Given the description of an element on the screen output the (x, y) to click on. 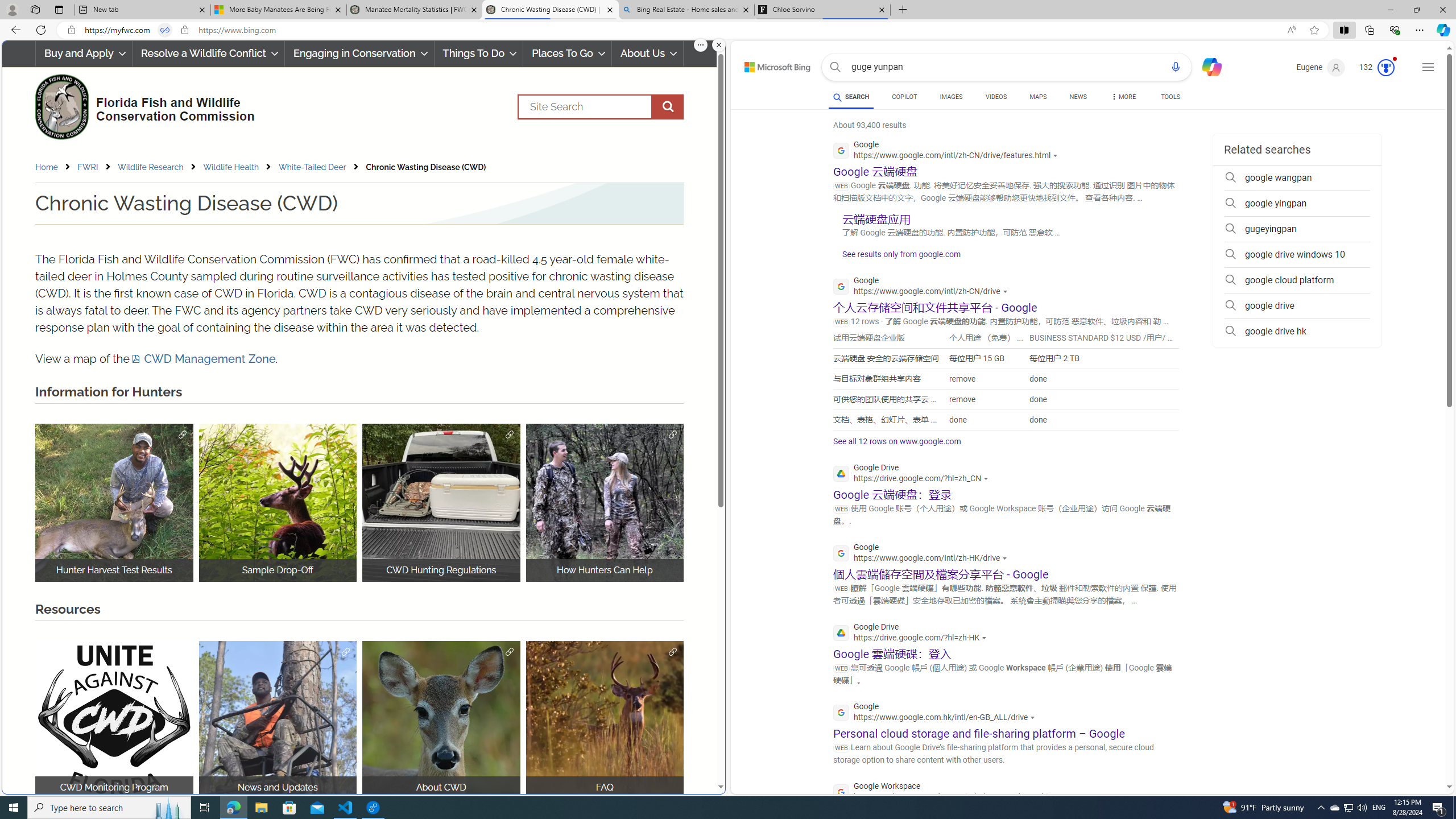
Dropdown Menu (1123, 96)
google wangpan (1297, 177)
More options. (700, 45)
Hunter Harvest Test Results Hunter Harvest (113, 502)
Photo showing a mature antlered while-tailed deer (604, 720)
AutomationID: mfa_root (1406, 752)
Places To Go (566, 53)
Resolve a Wildlife Conflict (208, 53)
TOOLS (1171, 96)
Search button (835, 66)
Close split screen. (719, 45)
